Given the description of an element on the screen output the (x, y) to click on. 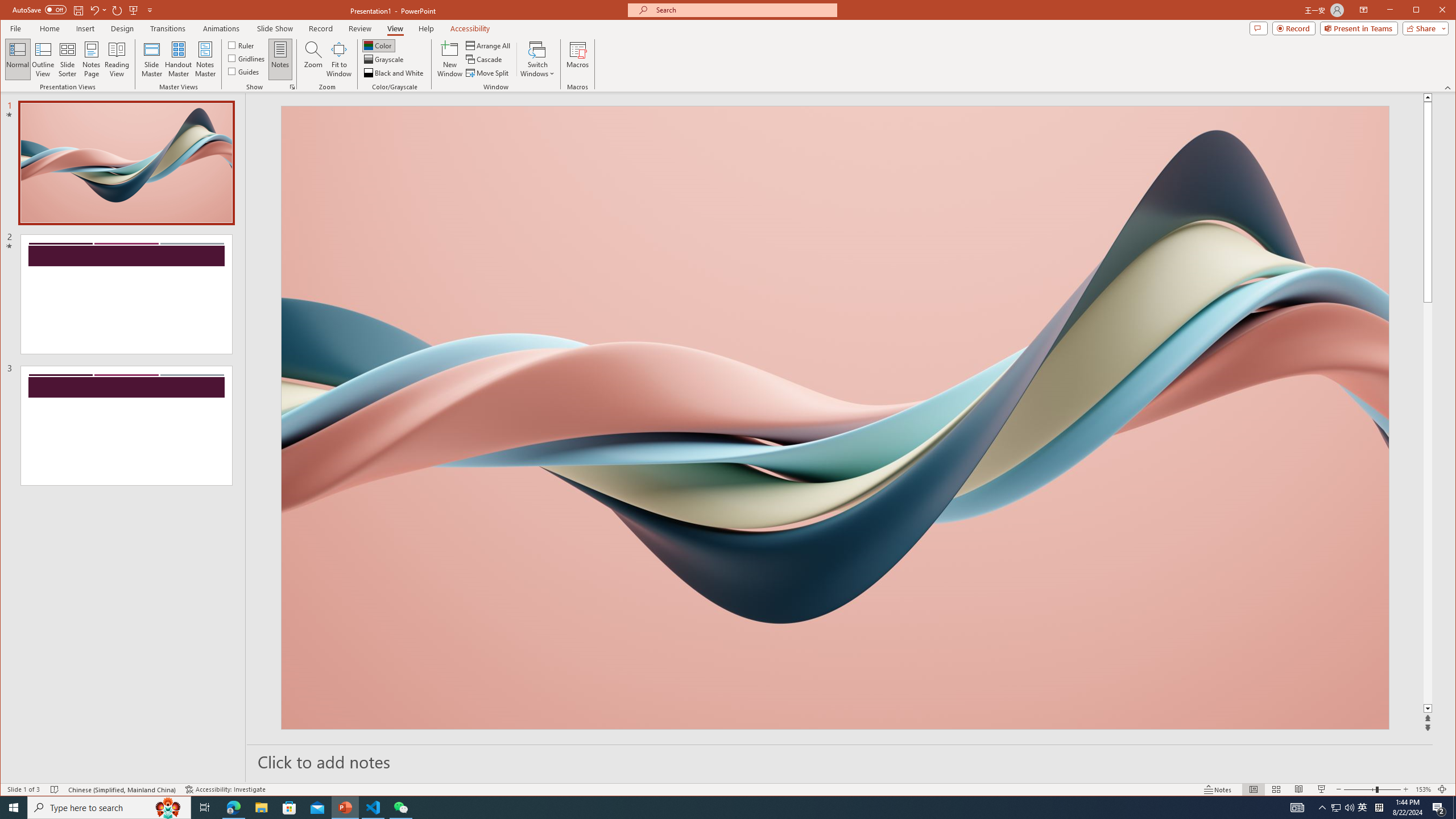
Ruler (241, 44)
Grid Settings... (292, 86)
Wavy 3D art (835, 417)
Cascade (484, 59)
Notes Master (204, 59)
WeChat - 1 running window (400, 807)
Notes Page (91, 59)
